Given the description of an element on the screen output the (x, y) to click on. 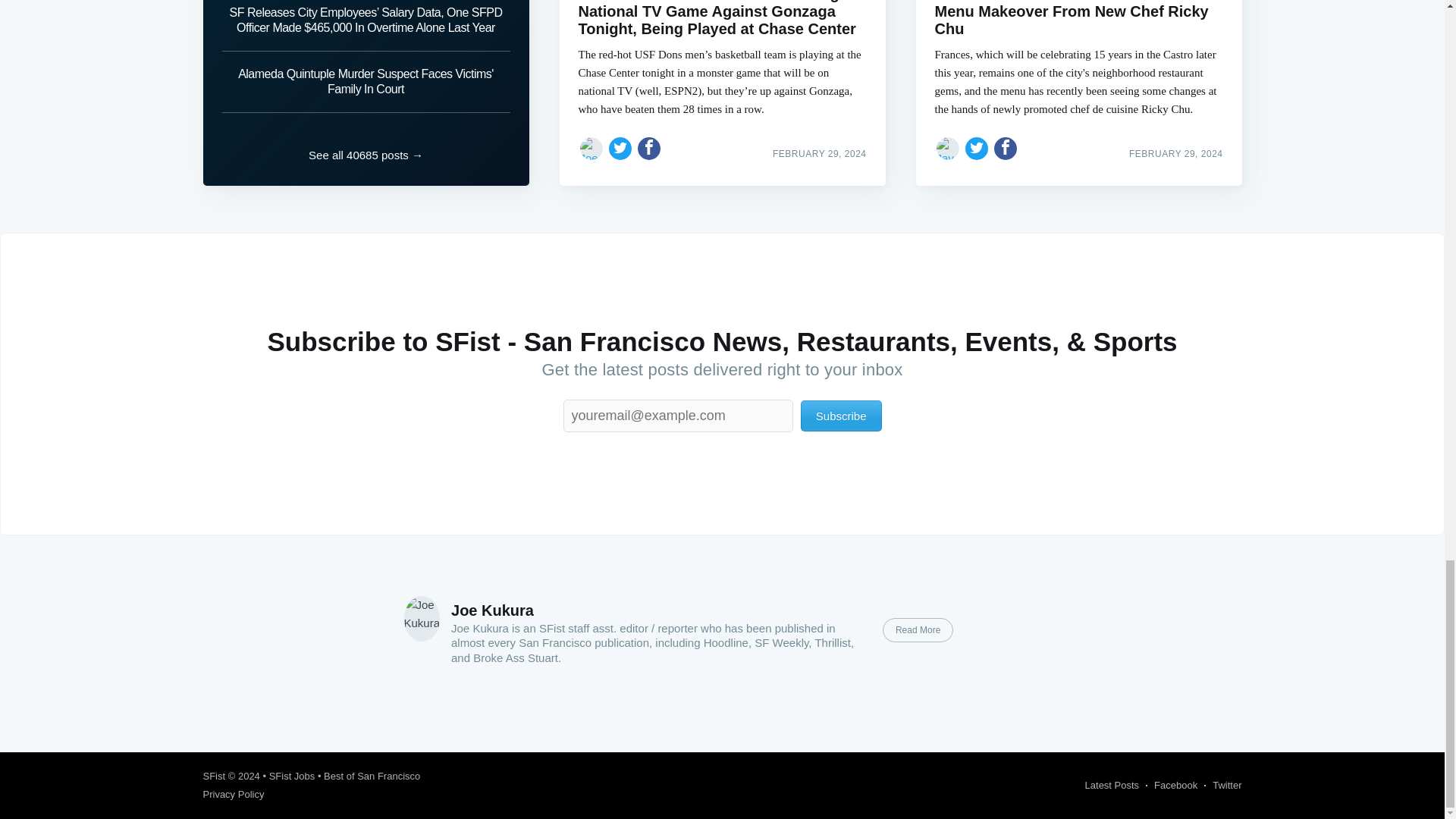
Share on Twitter (620, 148)
Share on Facebook (1004, 148)
Share on Twitter (976, 148)
Share on Facebook (649, 148)
